Given the description of an element on the screen output the (x, y) to click on. 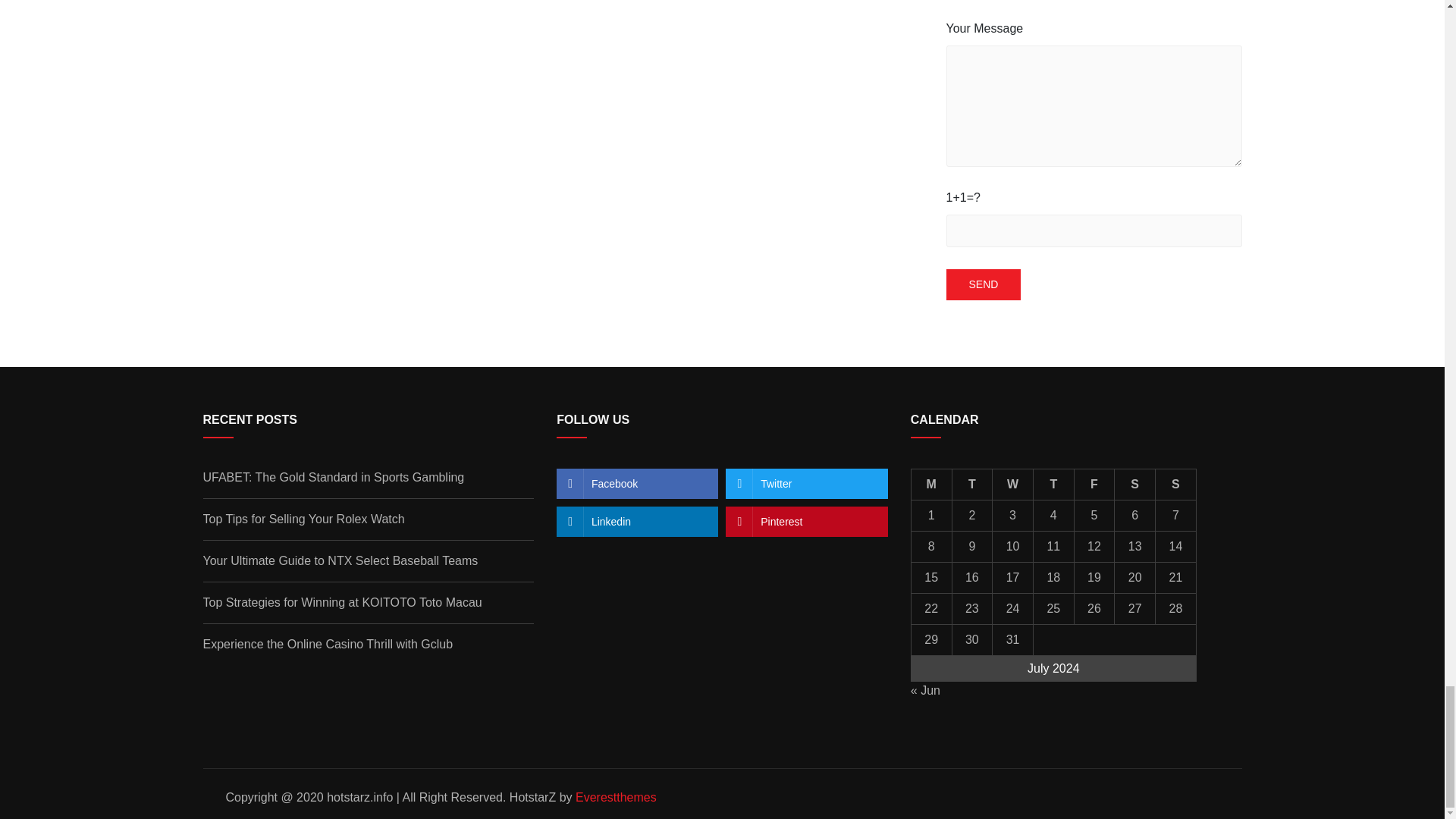
Saturday (1135, 483)
Monday (931, 483)
Tuesday (972, 483)
Friday (1094, 483)
Sunday (1176, 483)
Thursday (1053, 483)
Wednesday (1012, 483)
Send (984, 284)
